Given the description of an element on the screen output the (x, y) to click on. 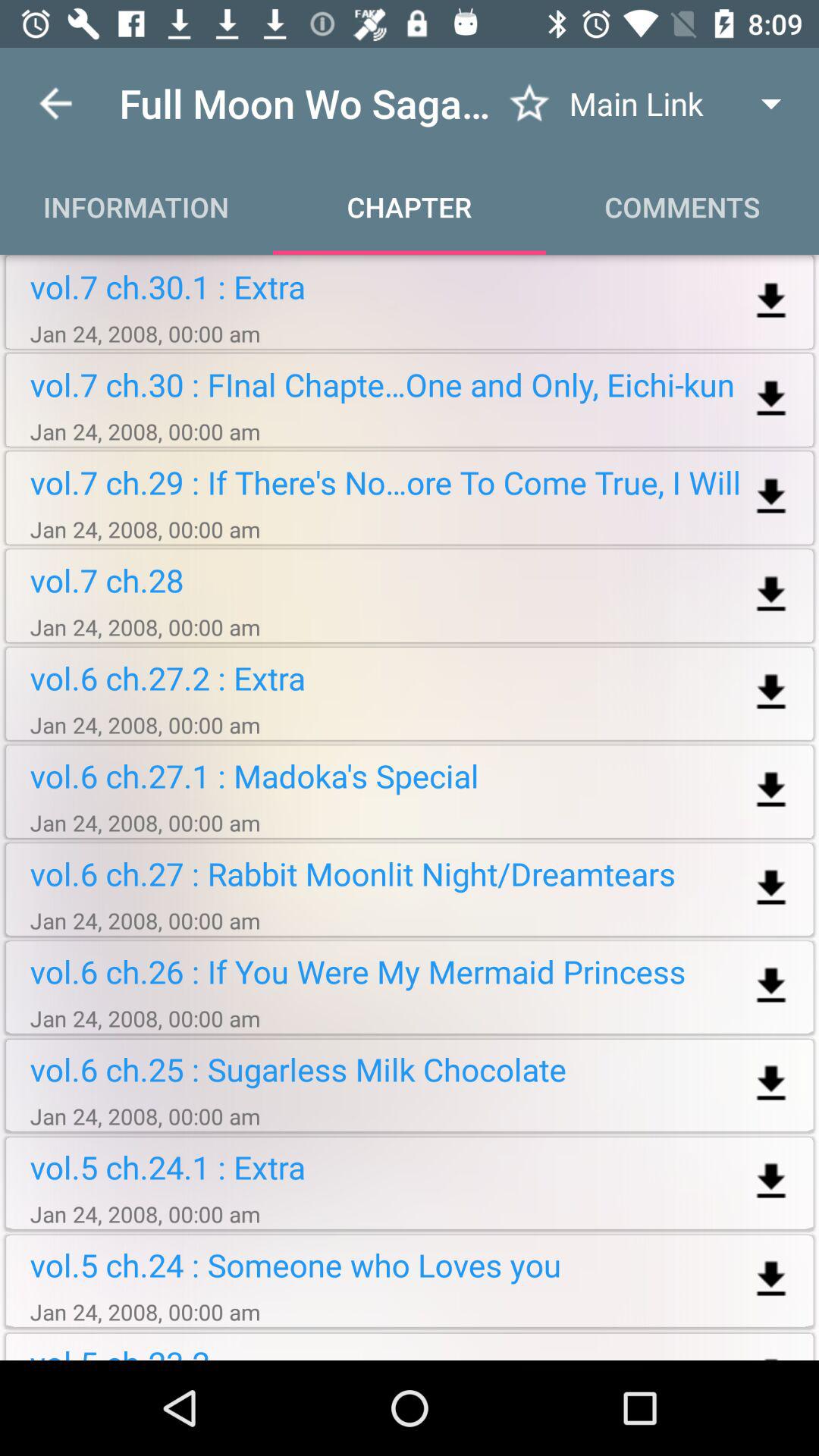
download selected (771, 301)
